Given the description of an element on the screen output the (x, y) to click on. 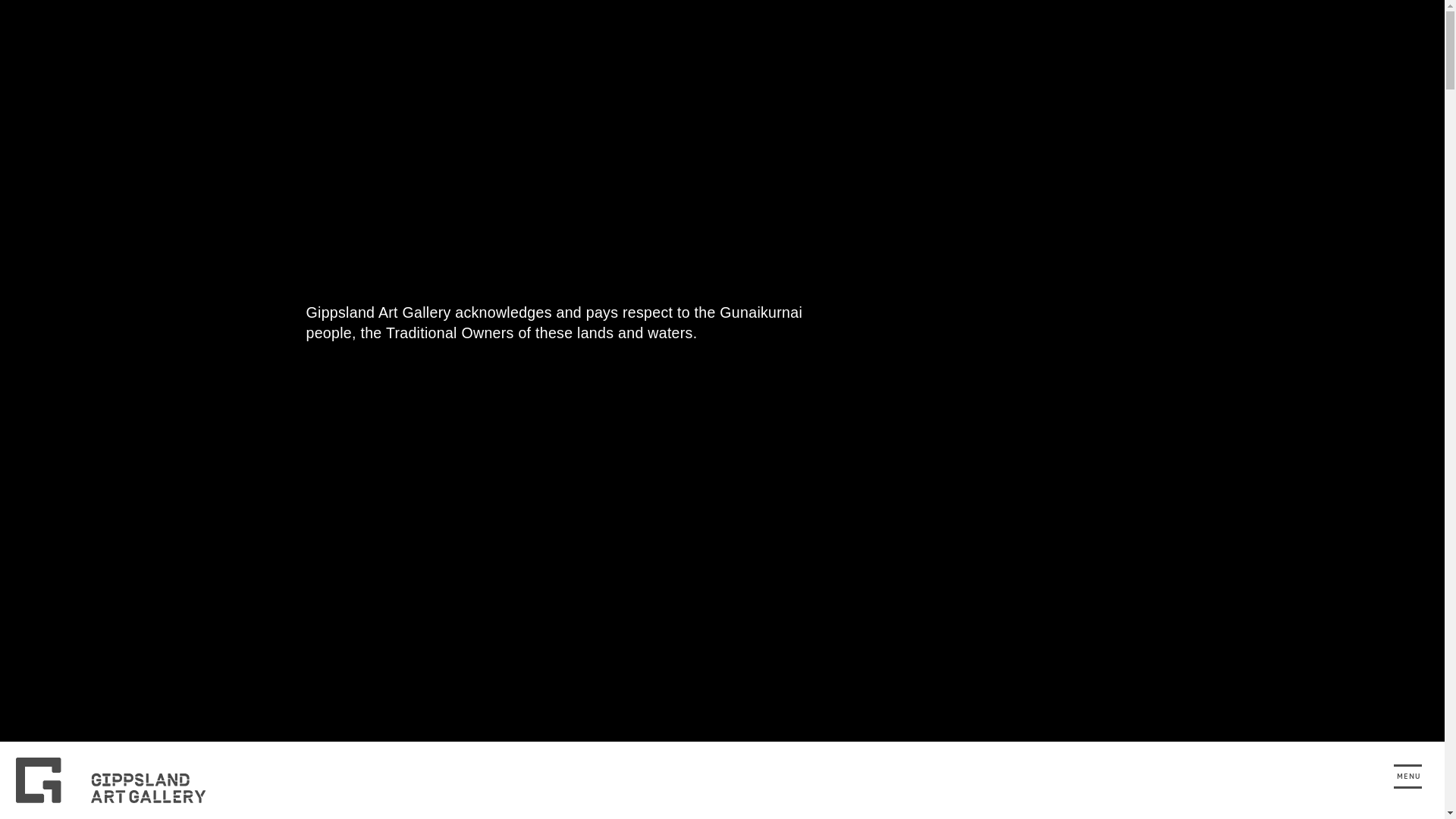
MENU Element type: text (1408, 776)
GIPPSLAND ART GALLERY Element type: text (119, 780)
